Given the description of an element on the screen output the (x, y) to click on. 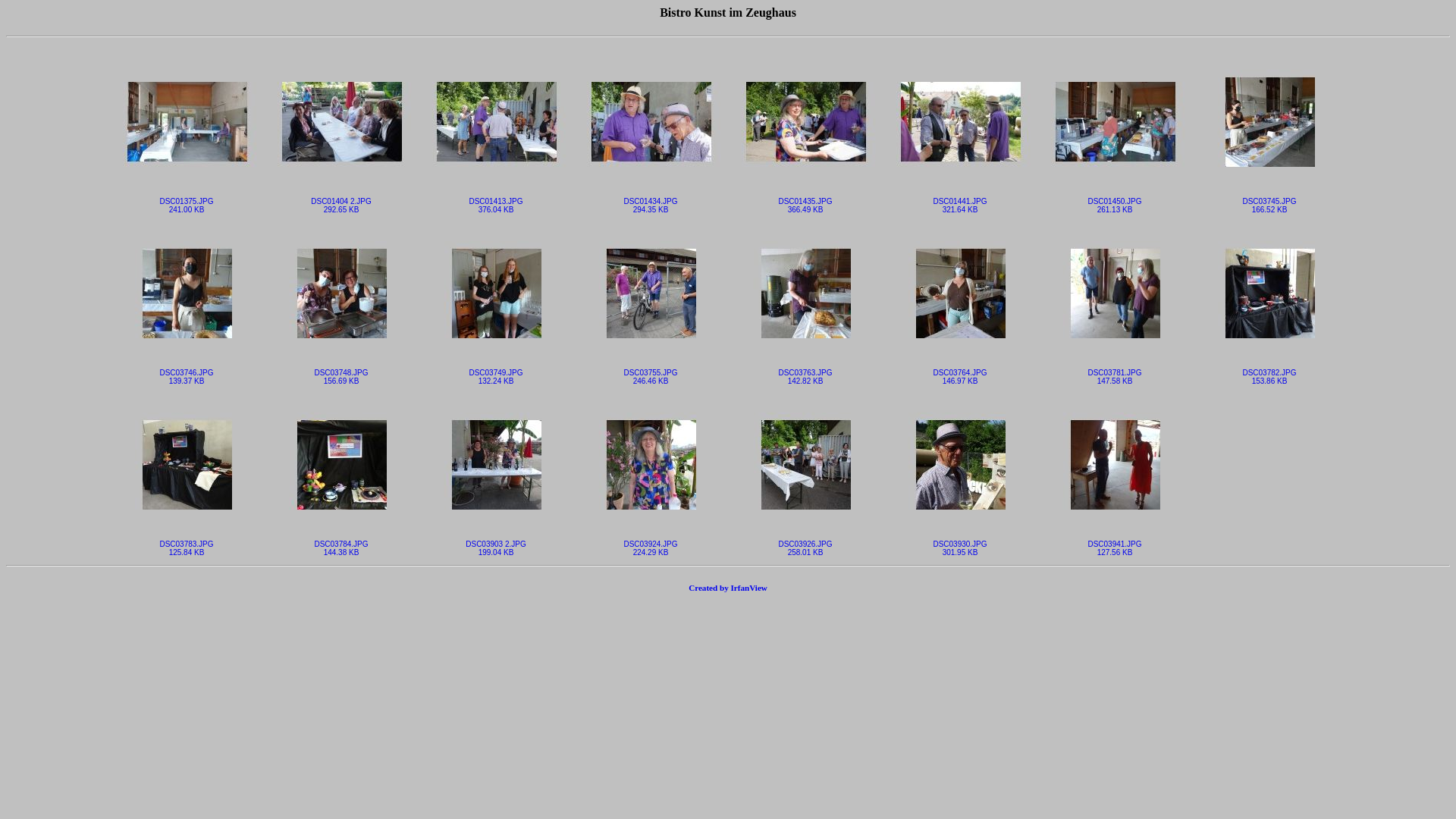
DSC03748.JPG
156.69 KB Element type: text (341, 373)
DSC01375.JPG
241.00 KB Element type: text (186, 201)
DSC03764.JPG
146.97 KB Element type: text (959, 373)
DSC03941.JPG
127.56 KB Element type: text (1114, 544)
DSC03924.JPG
224.29 KB Element type: text (650, 544)
DSC03903 2.JPG
199.04 KB Element type: text (495, 544)
DSC03782.JPG
153.86 KB Element type: text (1269, 373)
DSC01450.JPG
261.13 KB Element type: text (1114, 201)
DSC03926.JPG
258.01 KB Element type: text (805, 544)
DSC01434.JPG
294.35 KB Element type: text (650, 201)
DSC03781.JPG
147.58 KB Element type: text (1114, 373)
DSC03746.JPG
139.37 KB Element type: text (186, 373)
DSC03755.JPG
246.46 KB Element type: text (650, 373)
DSC01435.JPG
366.49 KB Element type: text (805, 201)
DSC03930.JPG
301.95 KB Element type: text (959, 544)
DSC03745.JPG
166.52 KB Element type: text (1269, 201)
DSC03749.JPG
132.24 KB Element type: text (495, 373)
DSC03763.JPG
142.82 KB Element type: text (805, 373)
DSC01441.JPG
321.64 KB Element type: text (959, 201)
DSC03784.JPG
144.38 KB Element type: text (341, 544)
DSC03783.JPG
125.84 KB Element type: text (186, 544)
DSC01404 2.JPG
292.65 KB Element type: text (341, 201)
Created by IrfanView Element type: text (727, 587)
DSC01413.JPG
376.04 KB Element type: text (495, 201)
